Given the description of an element on the screen output the (x, y) to click on. 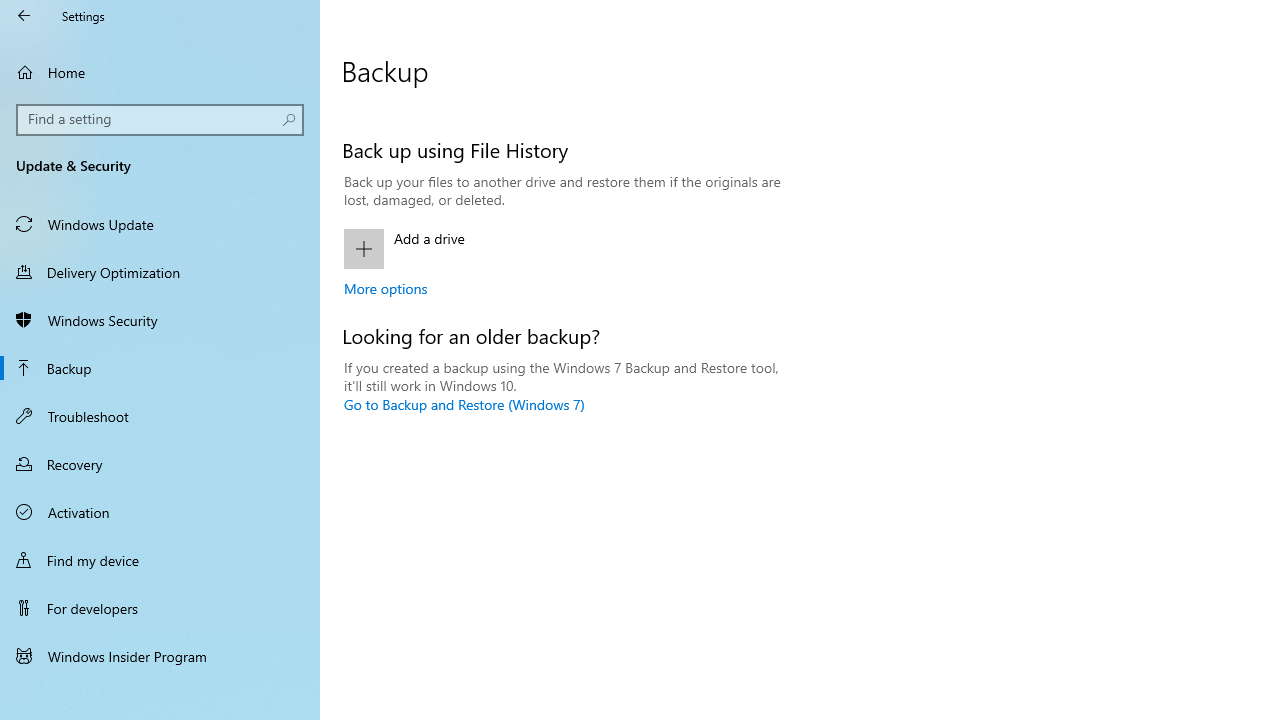
Windows Security (160, 319)
